Given the description of an element on the screen output the (x, y) to click on. 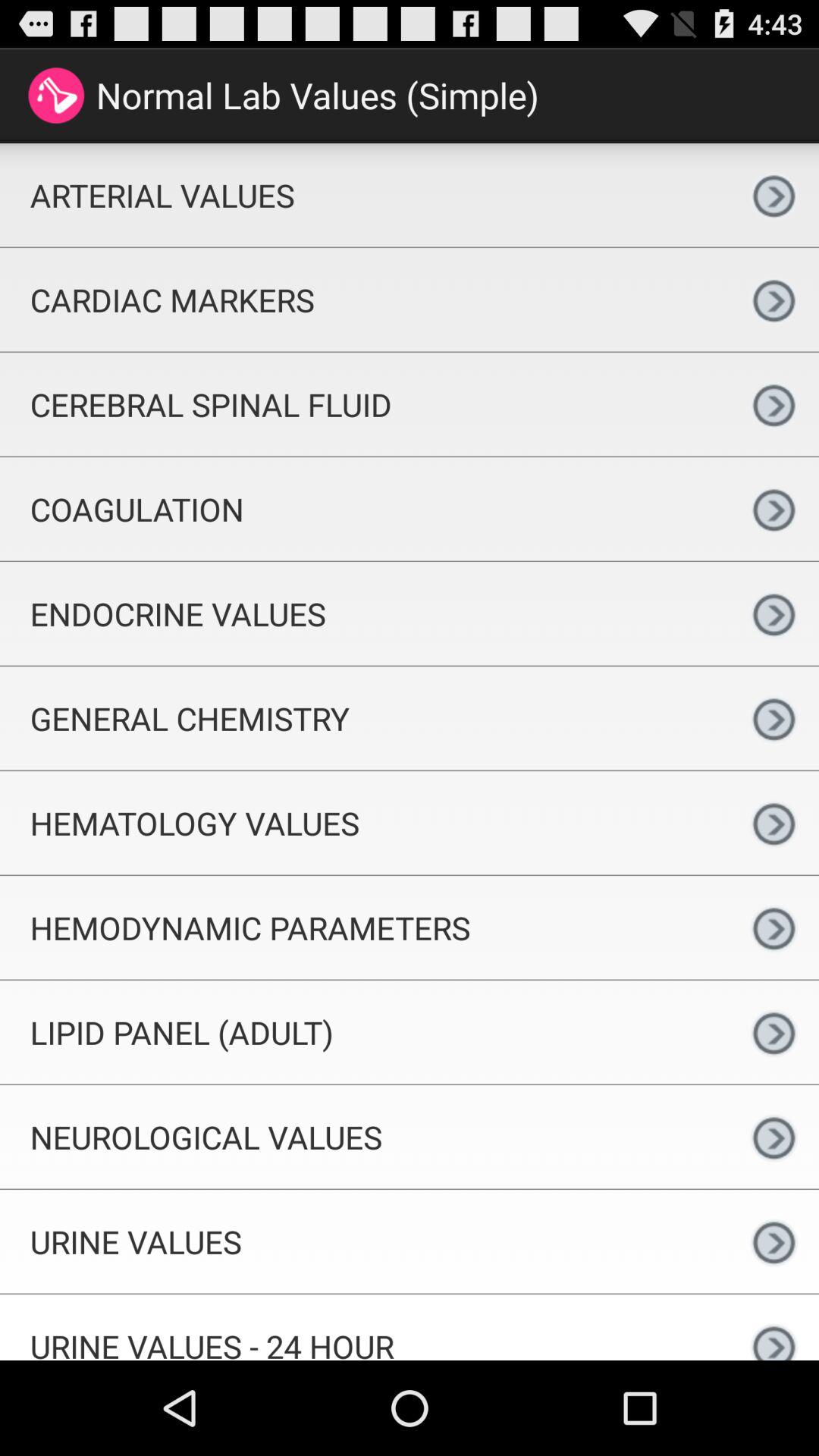
turn off the icon above neurological values app (364, 1032)
